Given the description of an element on the screen output the (x, y) to click on. 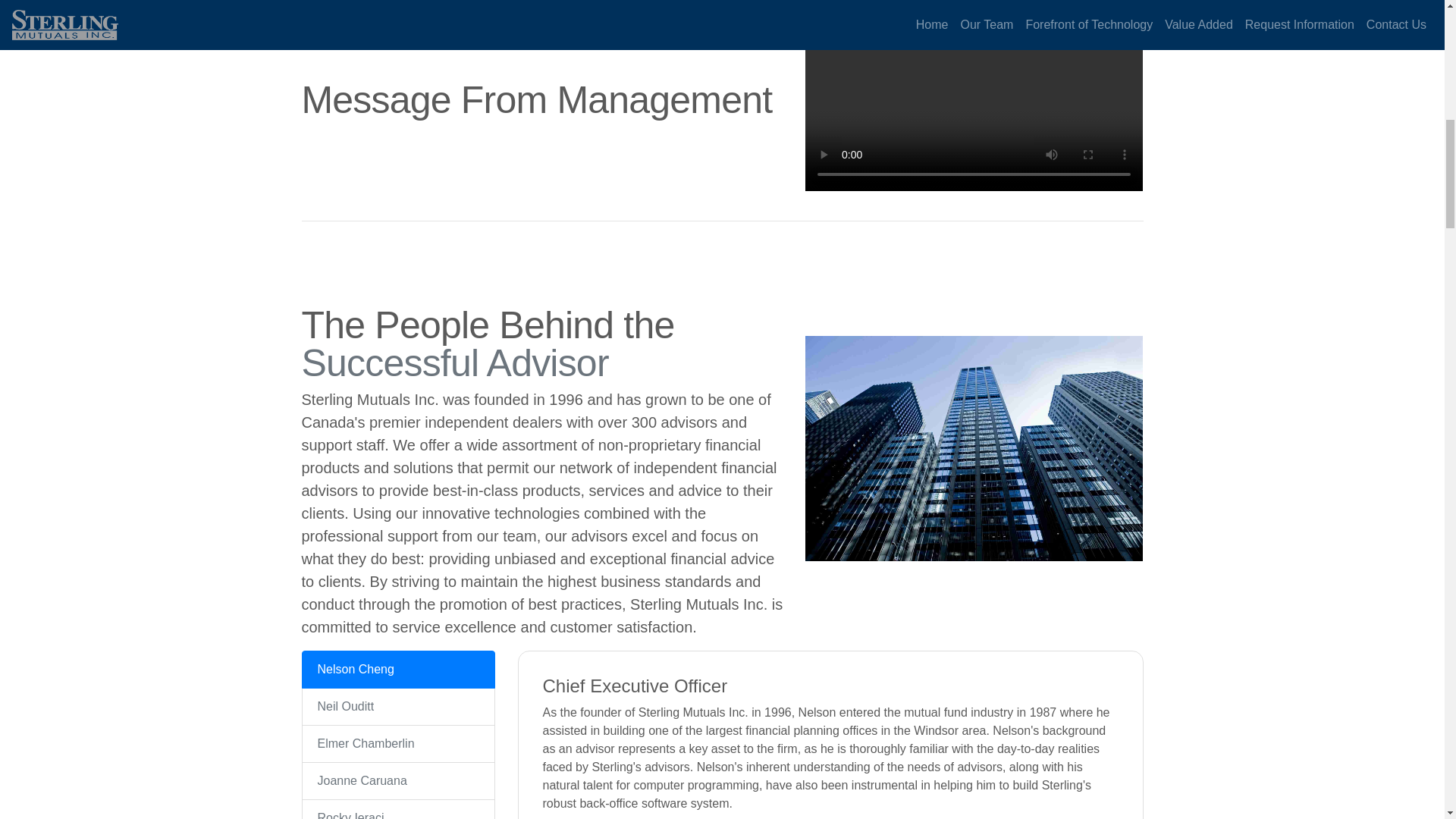
Elmer Chamberlin (398, 743)
Neil Ouditt (398, 706)
Nelson Cheng (398, 669)
Joanne Caruana (398, 781)
Rocky Ieraci (398, 809)
